Given the description of an element on the screen output the (x, y) to click on. 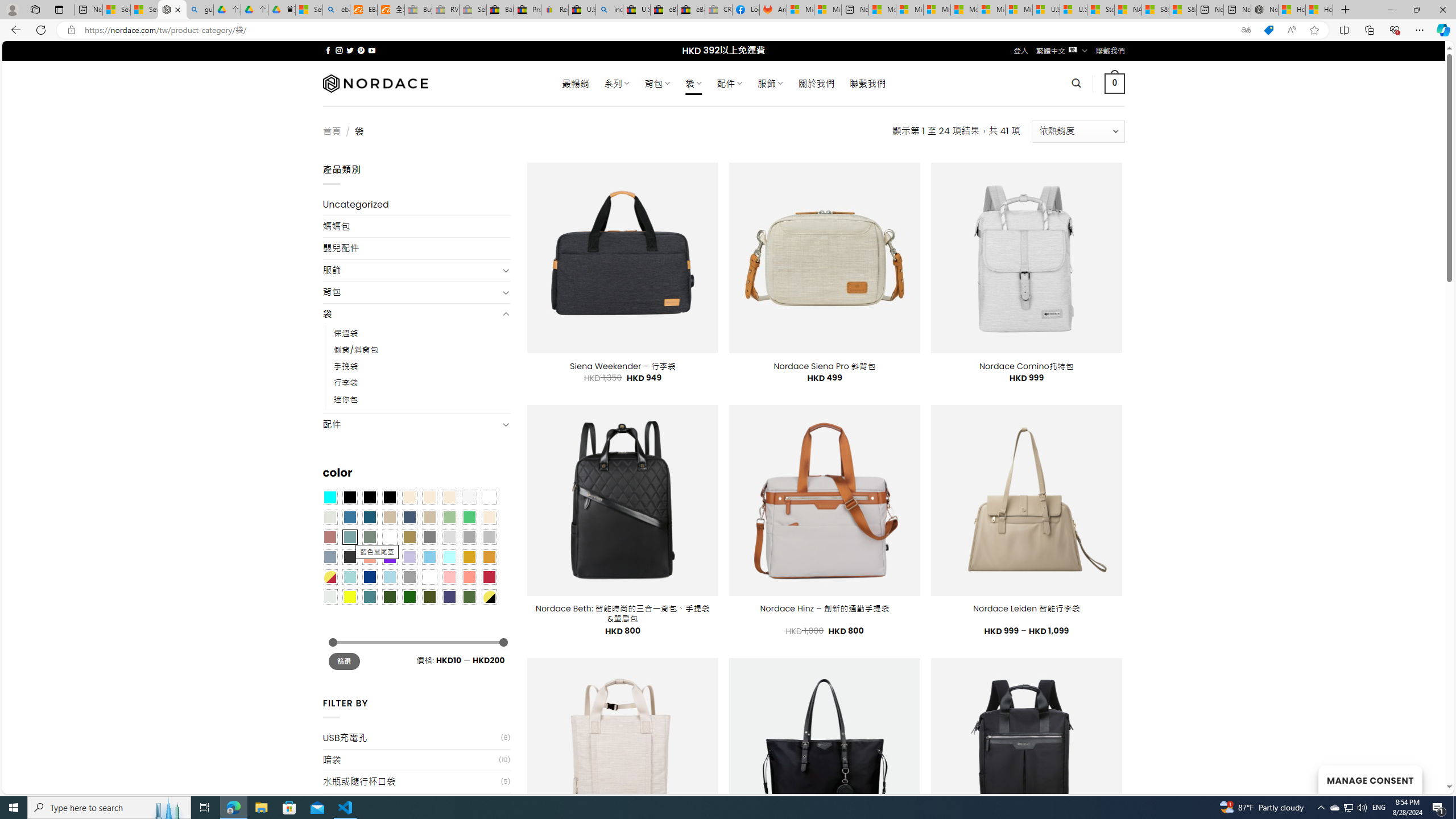
Uncategorized (416, 204)
Settings and more (Alt+F) (1419, 29)
Follow on Twitter (349, 50)
Uncategorized (416, 204)
